Given the description of an element on the screen output the (x, y) to click on. 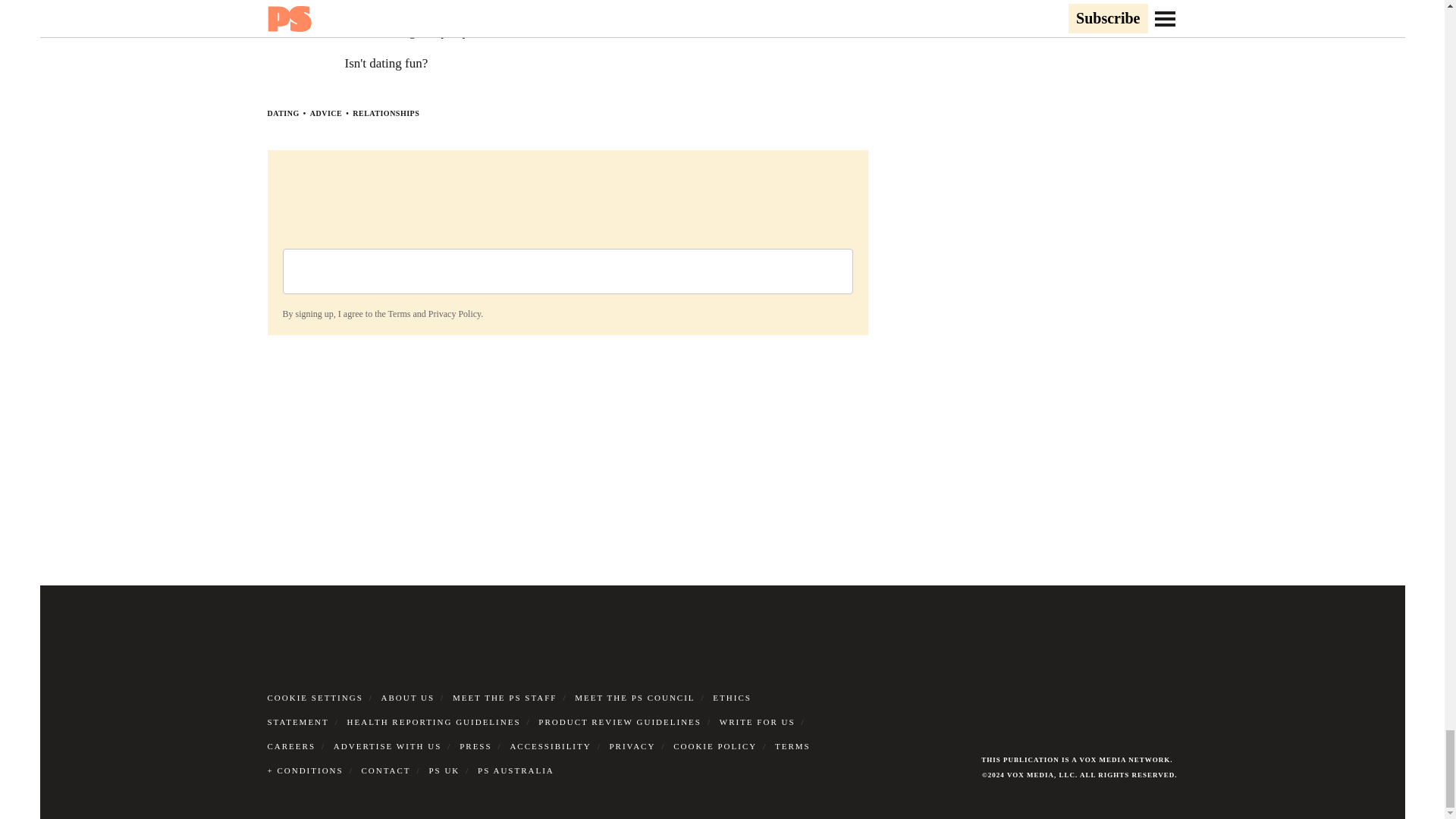
Privacy Policy. (455, 313)
ADVICE (326, 112)
RELATIONSHIPS (385, 112)
Terms (399, 313)
DATING (282, 112)
